Given the description of an element on the screen output the (x, y) to click on. 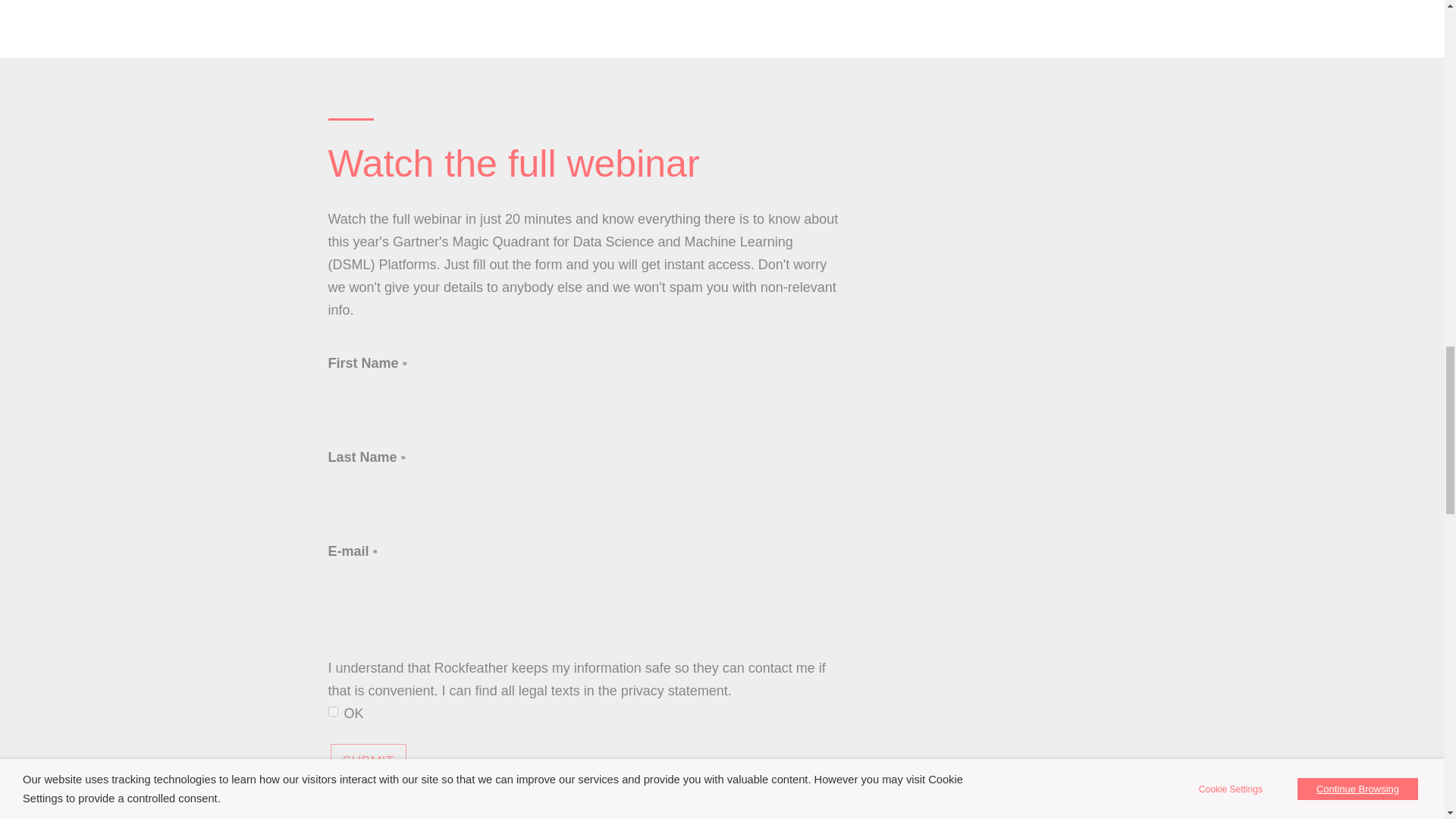
Submit (368, 761)
on (332, 711)
